Given the description of an element on the screen output the (x, y) to click on. 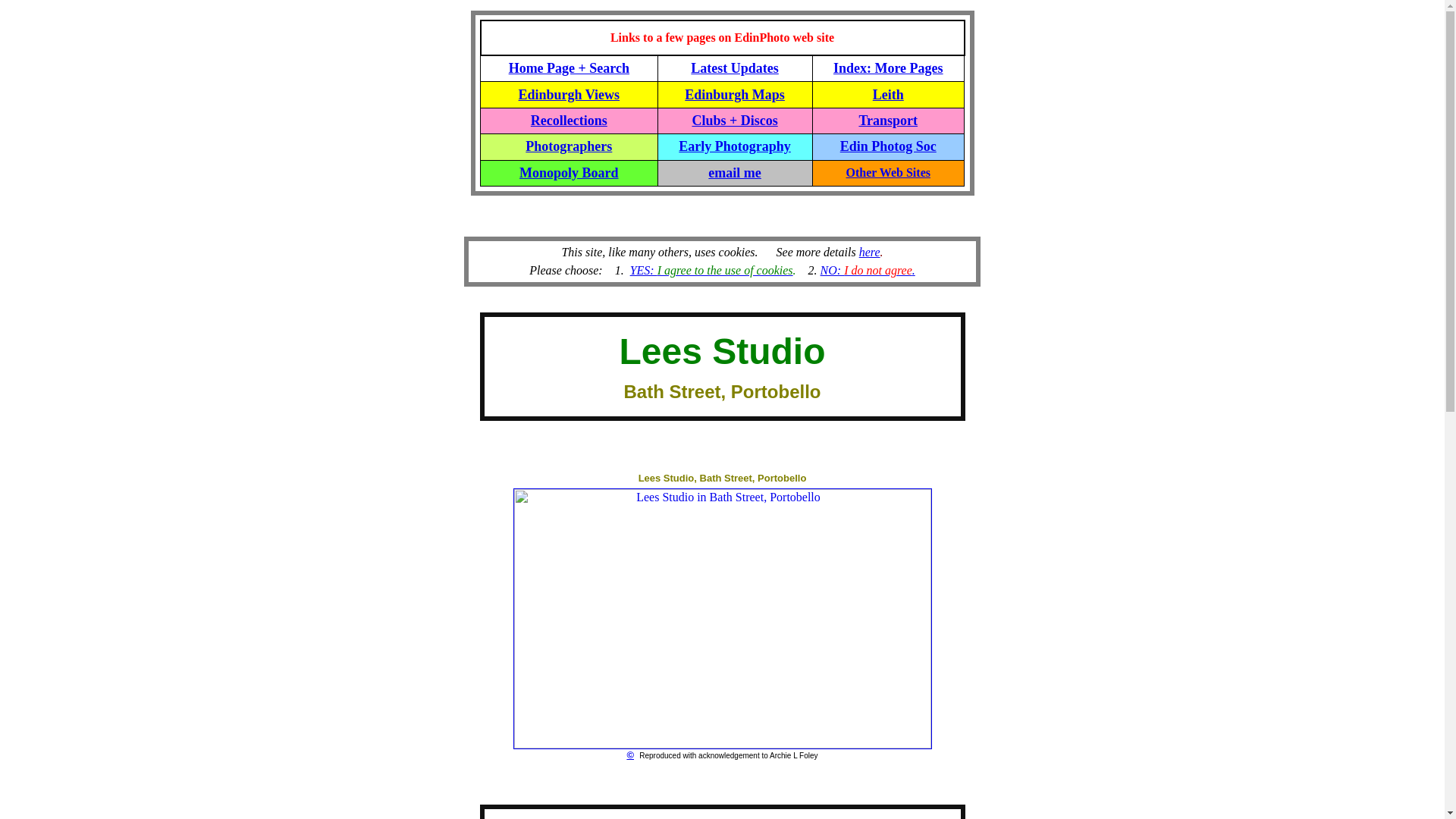
Leith (888, 94)
Photographers (568, 145)
Edinburgh Maps (734, 94)
Monopoly Board (568, 172)
Other Web Sites (887, 172)
Index: More Pages (887, 68)
Lees Studio, Bath Street, Portobello (722, 478)
YES: I agree to the use of cookies (711, 269)
Edin Photog Soc (888, 145)
Edinburgh Views (569, 94)
Transport (888, 120)
email me (733, 172)
Recollections (569, 120)
NO: I do not agree. (868, 269)
Early Photography (734, 145)
